Given the description of an element on the screen output the (x, y) to click on. 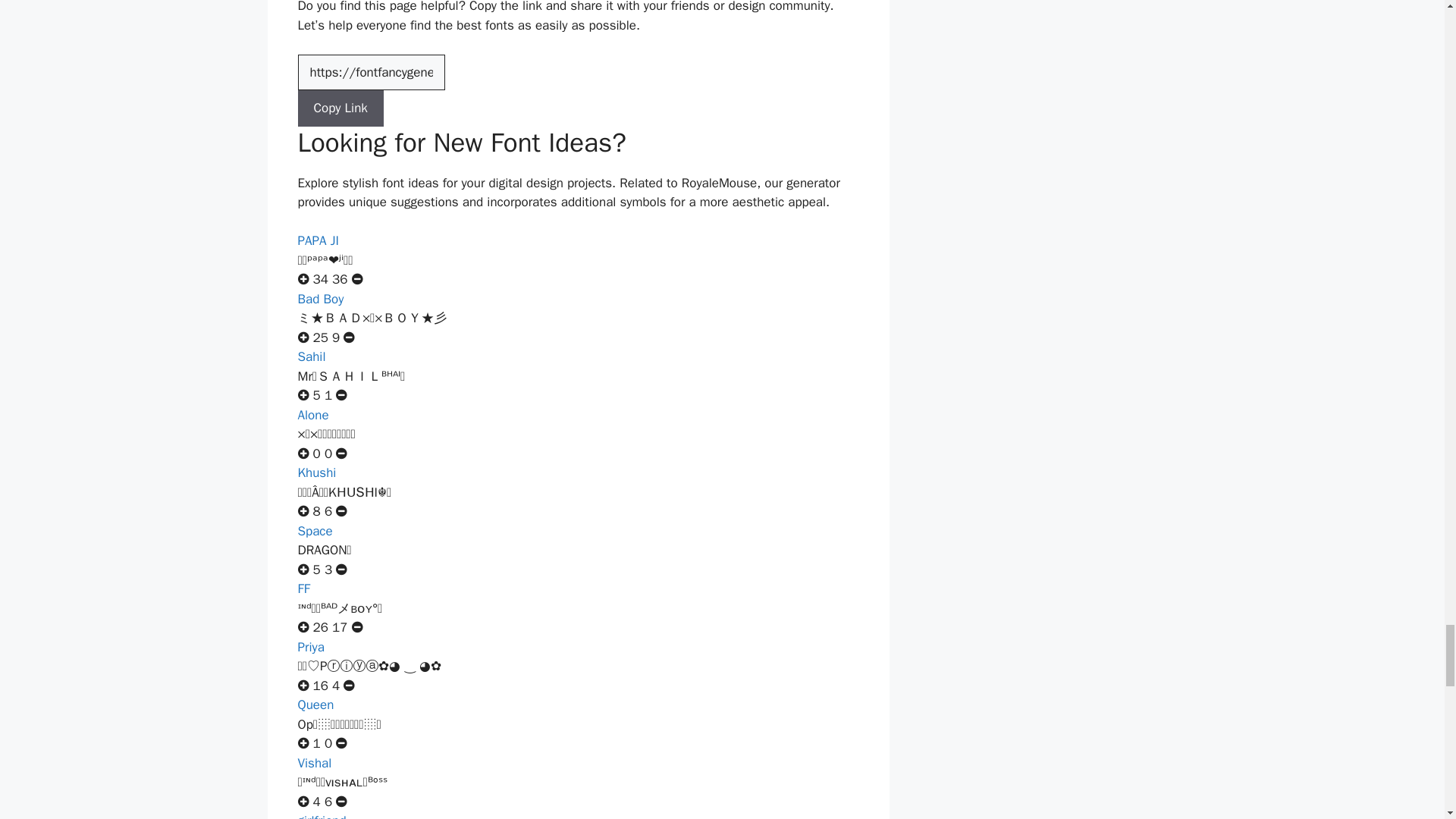
Priya (310, 647)
Bad Boy (320, 299)
Votes up (321, 627)
Votes up (316, 395)
Votes down (327, 453)
Votes up (316, 453)
Votes down (339, 279)
Vishal (314, 763)
Alone (313, 415)
Copy Link (339, 108)
PAPA JI (317, 240)
Sahil (310, 356)
Khushi (316, 472)
Votes down (327, 511)
Queen (315, 704)
